Given the description of an element on the screen output the (x, y) to click on. 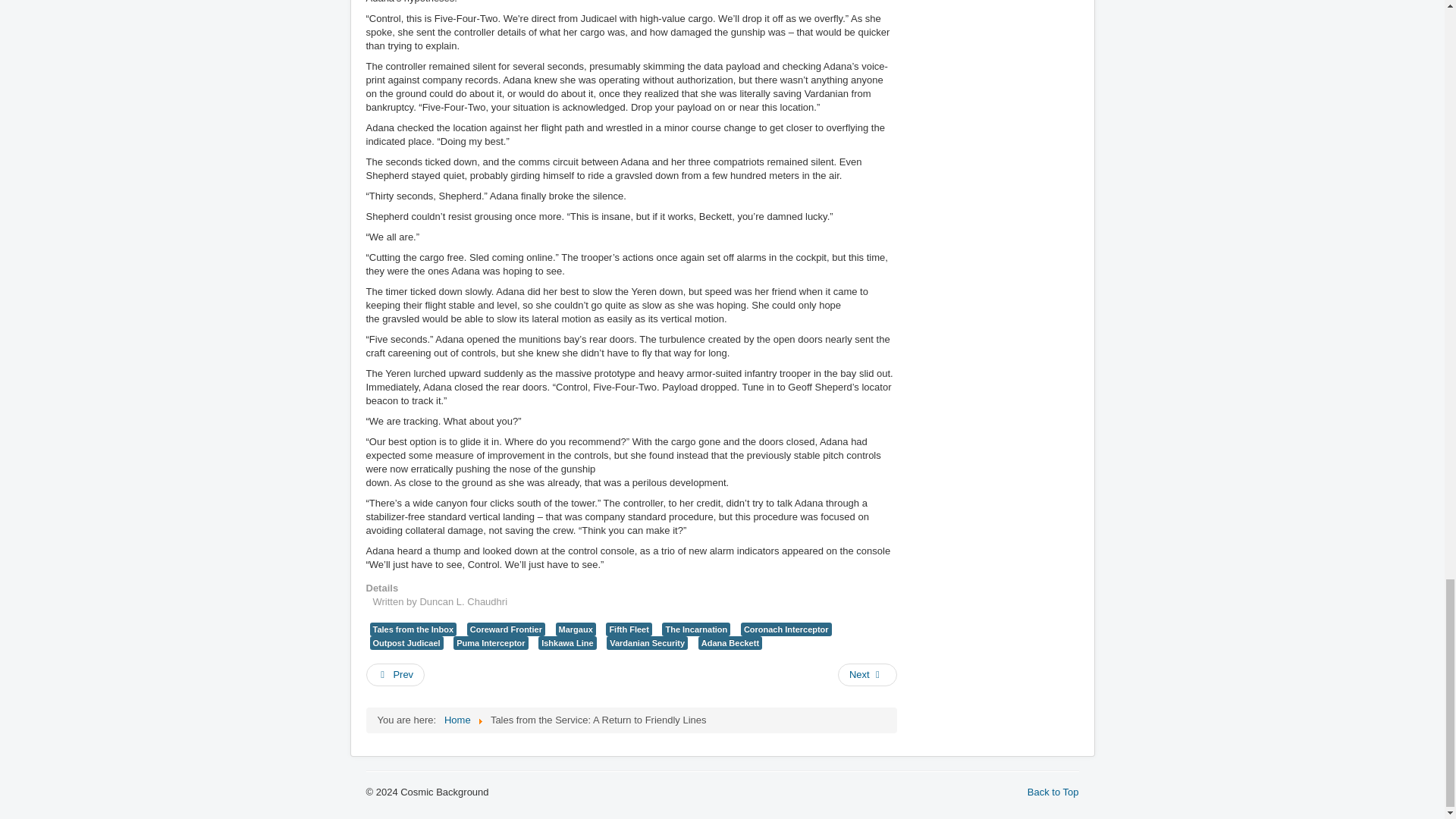
Coronach Interceptor (786, 629)
Coreward Frontier (505, 629)
Puma Interceptor (489, 643)
Outpost Judicael (406, 643)
Margaux (575, 629)
Fifth Fleet (627, 629)
Back to Top (1052, 791)
Tales from the Inbox (413, 629)
Home (457, 719)
Next (867, 674)
